Given the description of an element on the screen output the (x, y) to click on. 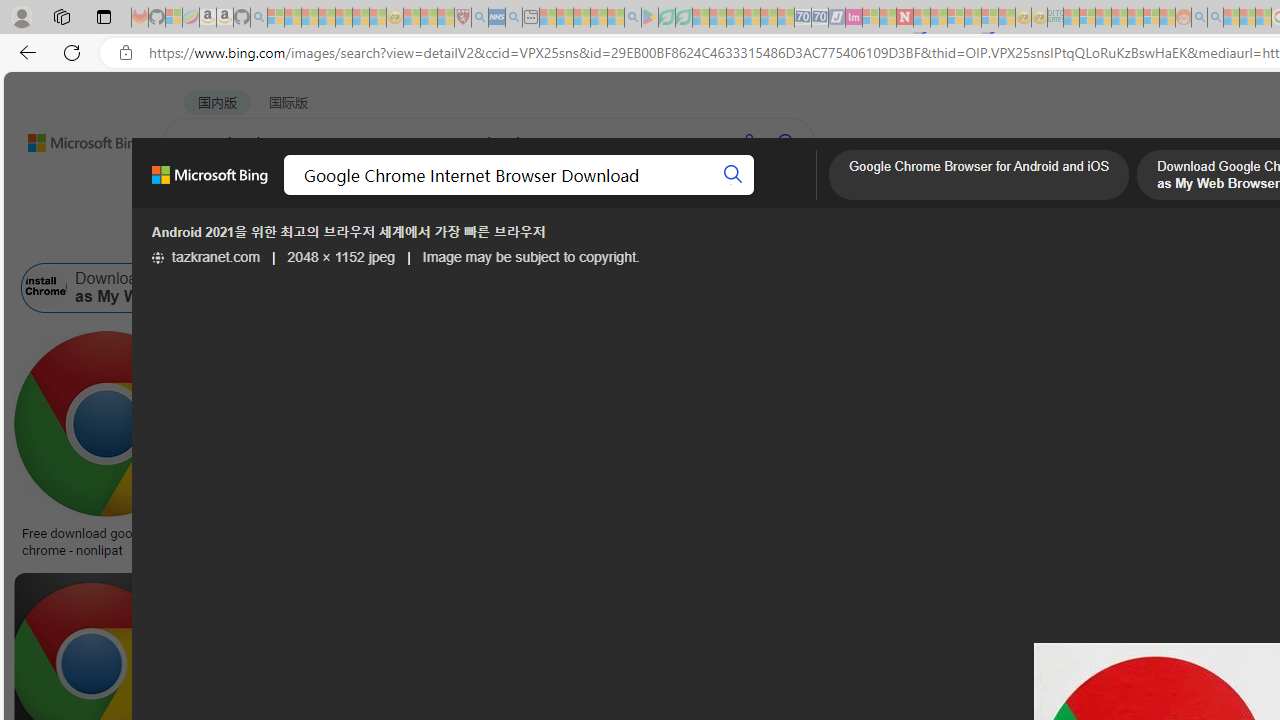
Image result for Google Chrome Internet Browser Download (722, 617)
Image may be subject to copyright. (531, 257)
Download video online chrome - hresadish (332, 541)
VIDEOS (545, 195)
Install Google Chrome Web Browser (1051, 287)
list of asthma inhalers uk - Search - Sleeping (479, 17)
Layout (443, 237)
Kinda Frugal - MSN - Sleeping (1135, 17)
tazkranet.com (205, 257)
License (665, 237)
Install Google Chrome Web Browser (1142, 287)
